Given the description of an element on the screen output the (x, y) to click on. 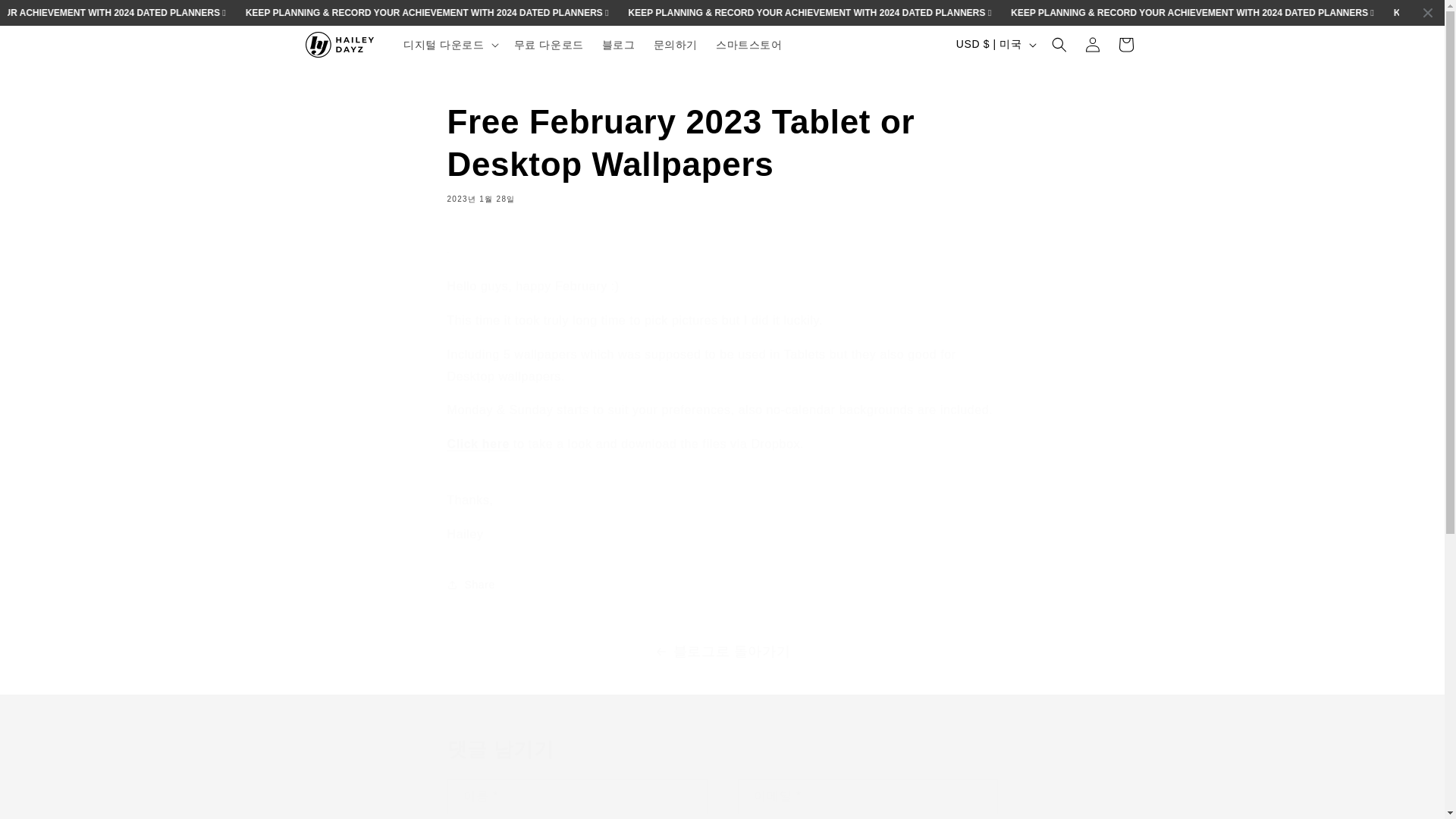
2023 FEBRUARY FREE WALLPAPERS (477, 443)
Click here (477, 443)
Share (721, 584)
